Given the description of an element on the screen output the (x, y) to click on. 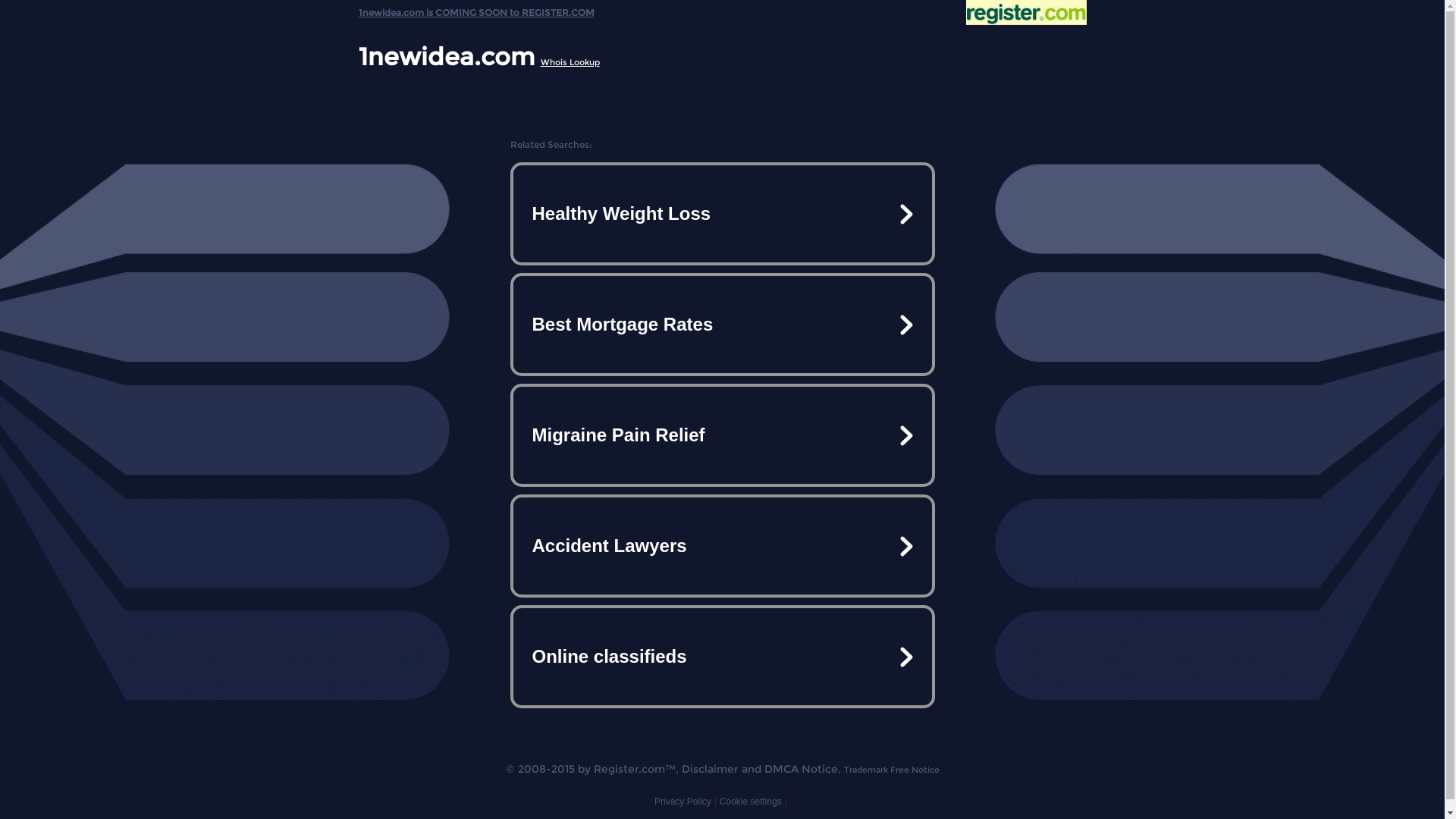
Best Mortgage Rates Element type: text (721, 324)
1newidea.com is COMING SOON to REGISTER.COM Element type: text (475, 9)
Whois Lookup Element type: text (569, 61)
Online classifieds Element type: text (721, 656)
Healthy Weight Loss Element type: text (721, 213)
Accident Lawyers Element type: text (721, 545)
1newidea.com Element type: text (445, 56)
Trademark Free Notice Element type: text (890, 769)
Cookie settings Element type: text (750, 801)
Privacy Policy Element type: text (682, 801)
Migraine Pain Relief Element type: text (721, 434)
